Given the description of an element on the screen output the (x, y) to click on. 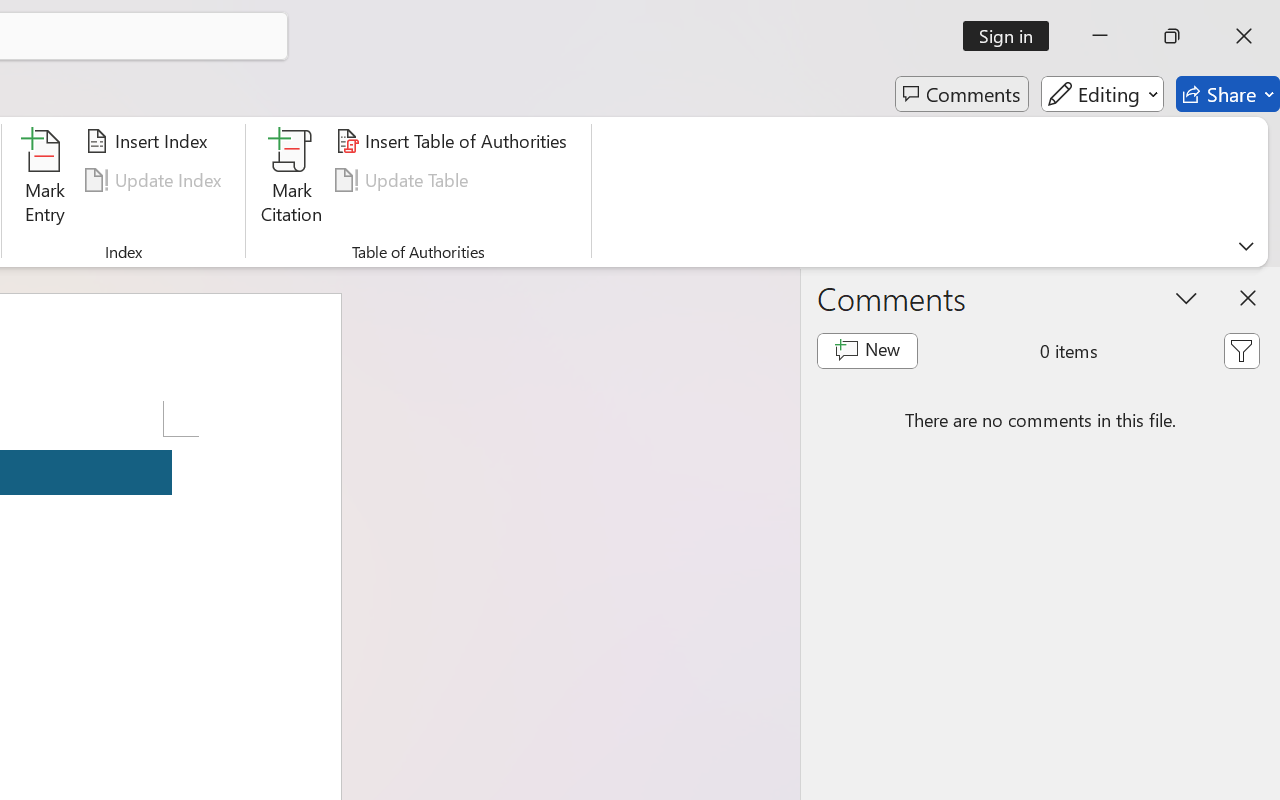
Sign in (1012, 35)
Mark Citation... (292, 179)
Editing (1101, 94)
Update Index (156, 179)
Insert Index... (149, 141)
Insert Table of Authorities... (453, 141)
Mark Entry... (44, 179)
Filter (1241, 350)
New comment (866, 350)
